Given the description of an element on the screen output the (x, y) to click on. 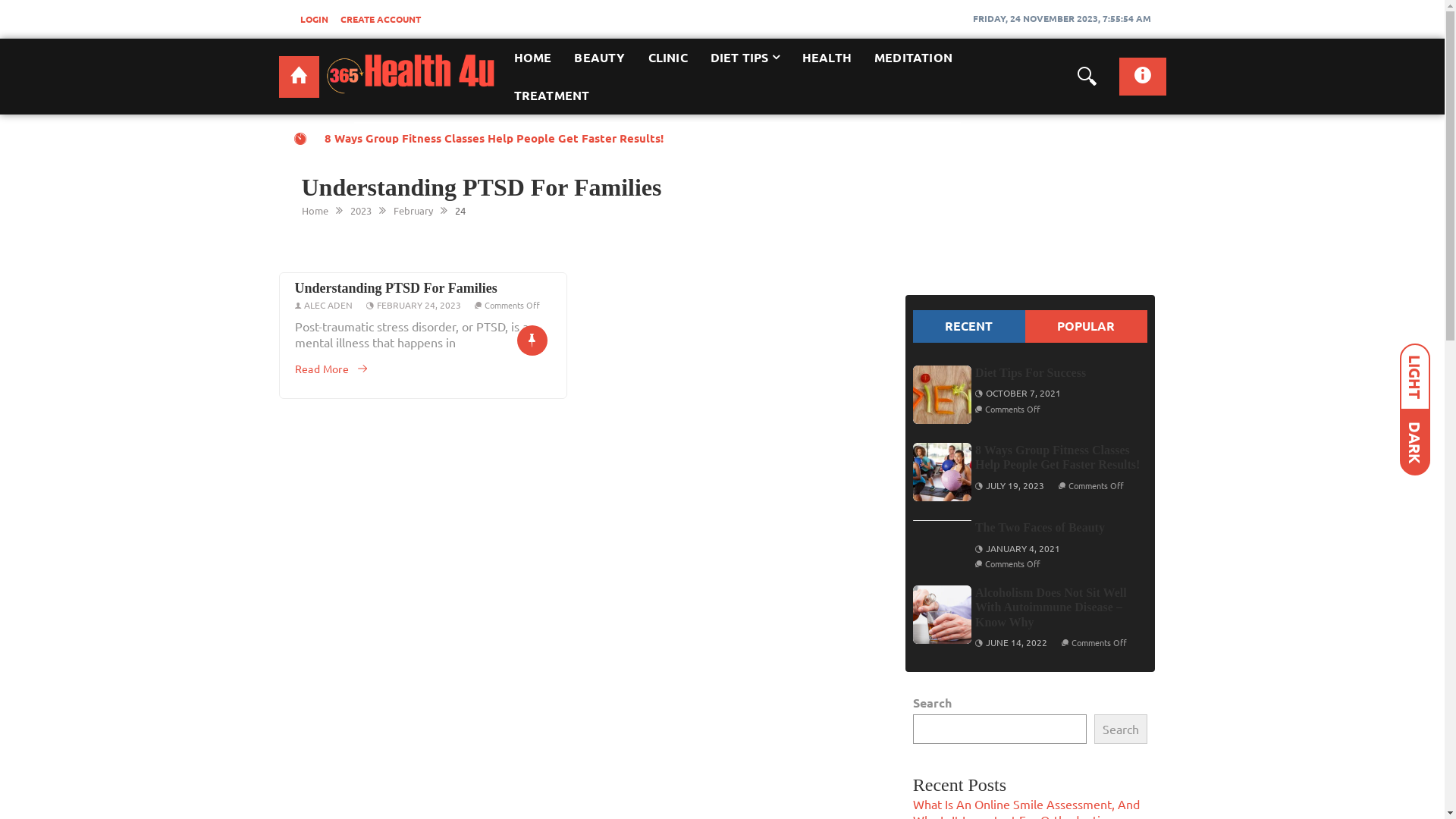
Search Element type: text (1119, 728)
LOGIN Element type: text (314, 18)
Diet Tips For Success Element type: text (1030, 372)
JULY 19, 2023 Element type: text (1014, 485)
HEALTH Element type: text (826, 57)
CLINIC Element type: text (668, 57)
JANUARY 4, 2021 Element type: text (1022, 548)
2023 Element type: text (360, 209)
CREATE ACCOUNT Element type: text (379, 18)
MEDITATION Element type: text (912, 57)
OCTOBER 7, 2021 Element type: text (1022, 392)
BEAUTY Element type: text (599, 57)
FEBRUARY 24, 2023 Element type: text (418, 304)
February Element type: text (412, 209)
8 Ways Group Fitness Classes Help People Get Faster Results! Element type: text (1057, 456)
RECENT Element type: text (969, 326)
365 Health 4U: Health and fitness guide for everyone Element type: hover (299, 76)
POPULAR Element type: text (1086, 326)
ALEC ADEN Element type: text (327, 304)
Home Element type: text (314, 209)
DIET TIPS Element type: text (744, 57)
8 Ways Group Fitness Classes Help People Get Faster Results! Element type: hover (942, 471)
The Two Faces of Beauty Element type: text (1039, 526)
  Element type: text (299, 76)
Read More Element type: text (331, 368)
Understanding PTSD For Families Element type: text (395, 287)
TREATMENT Element type: text (551, 95)
JUNE 14, 2022 Element type: text (1016, 642)
Diet Tips For Success Element type: hover (942, 394)
HOME Element type: text (532, 57)
